Given the description of an element on the screen output the (x, y) to click on. 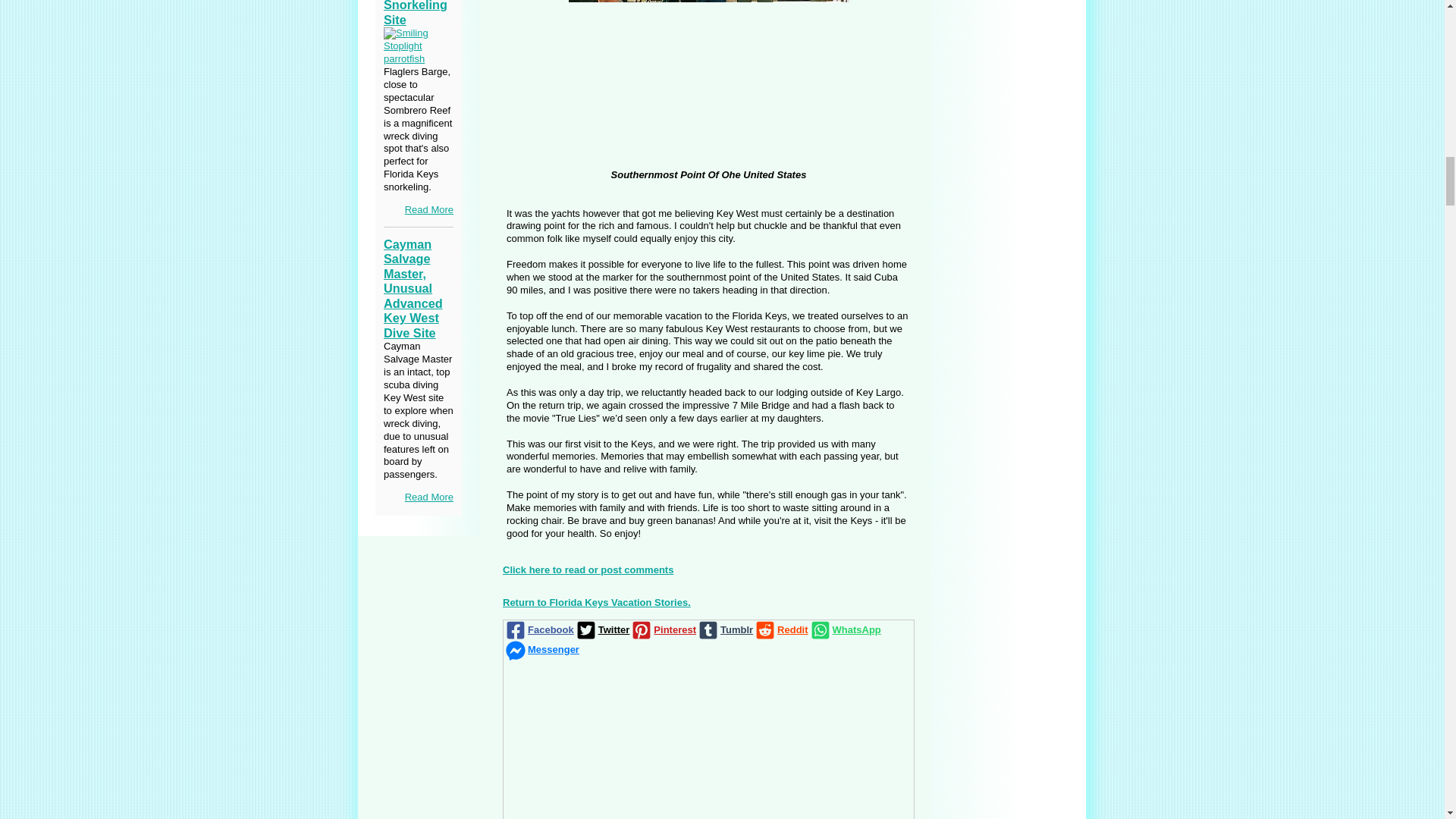
Pinterest (661, 629)
Facebook (538, 629)
Click here to read or post comments (587, 569)
WhatsApp (844, 629)
Messenger (541, 649)
Twitter (601, 629)
Reddit (780, 629)
Return to Florida Keys Vacation Stories. (596, 602)
Tumblr (723, 629)
